Given the description of an element on the screen output the (x, y) to click on. 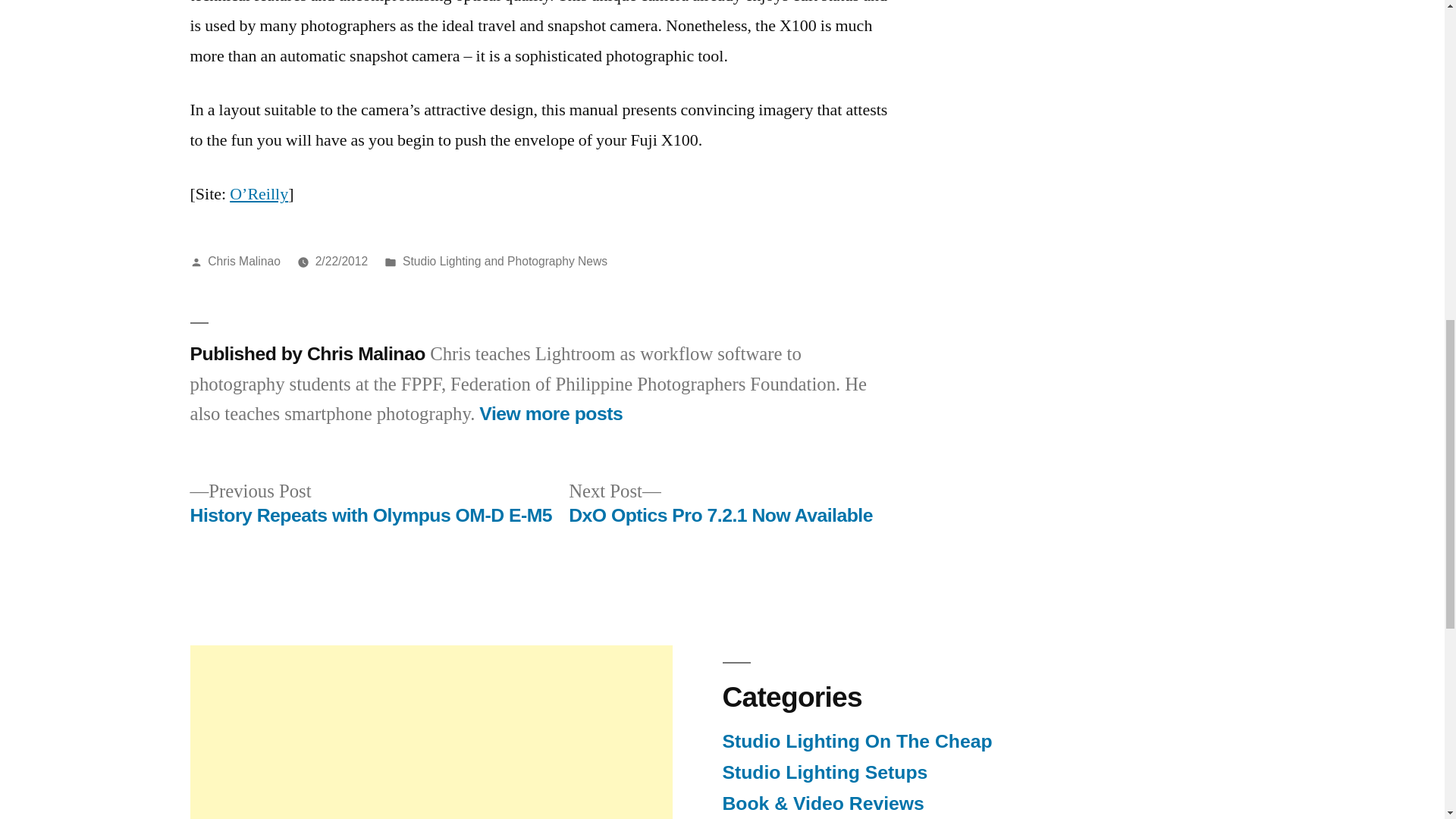
Advertisement (430, 732)
Read reviews of photography books and videos. (822, 803)
